Given the description of an element on the screen output the (x, y) to click on. 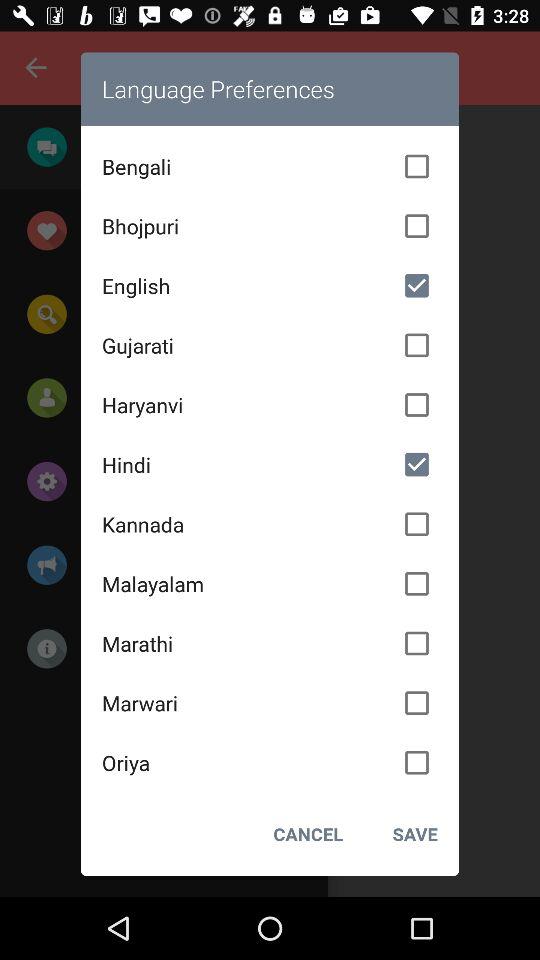
turn off the icon below language preferences item (270, 166)
